Given the description of an element on the screen output the (x, y) to click on. 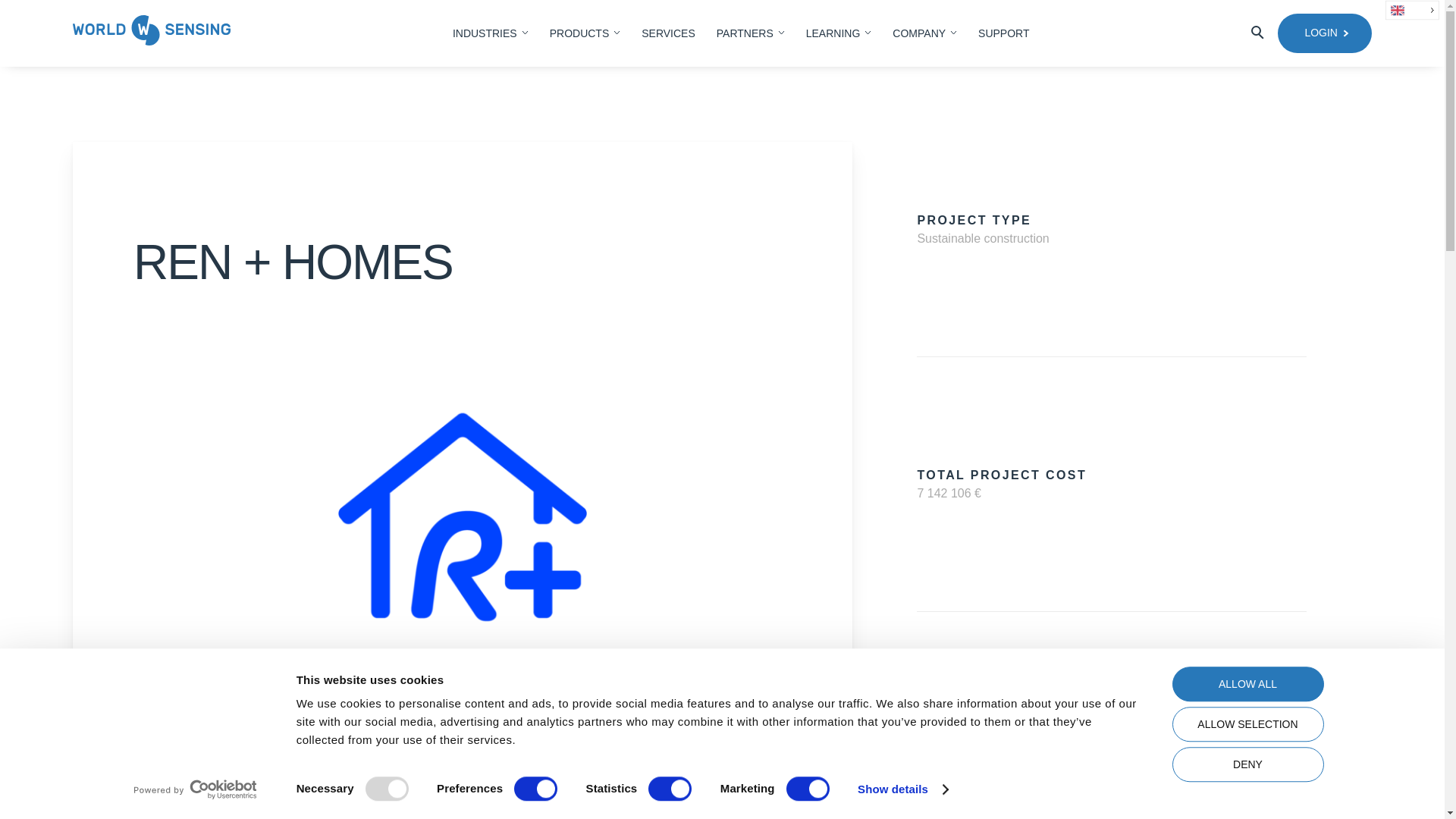
Show details (902, 789)
Home (151, 32)
